Given the description of an element on the screen output the (x, y) to click on. 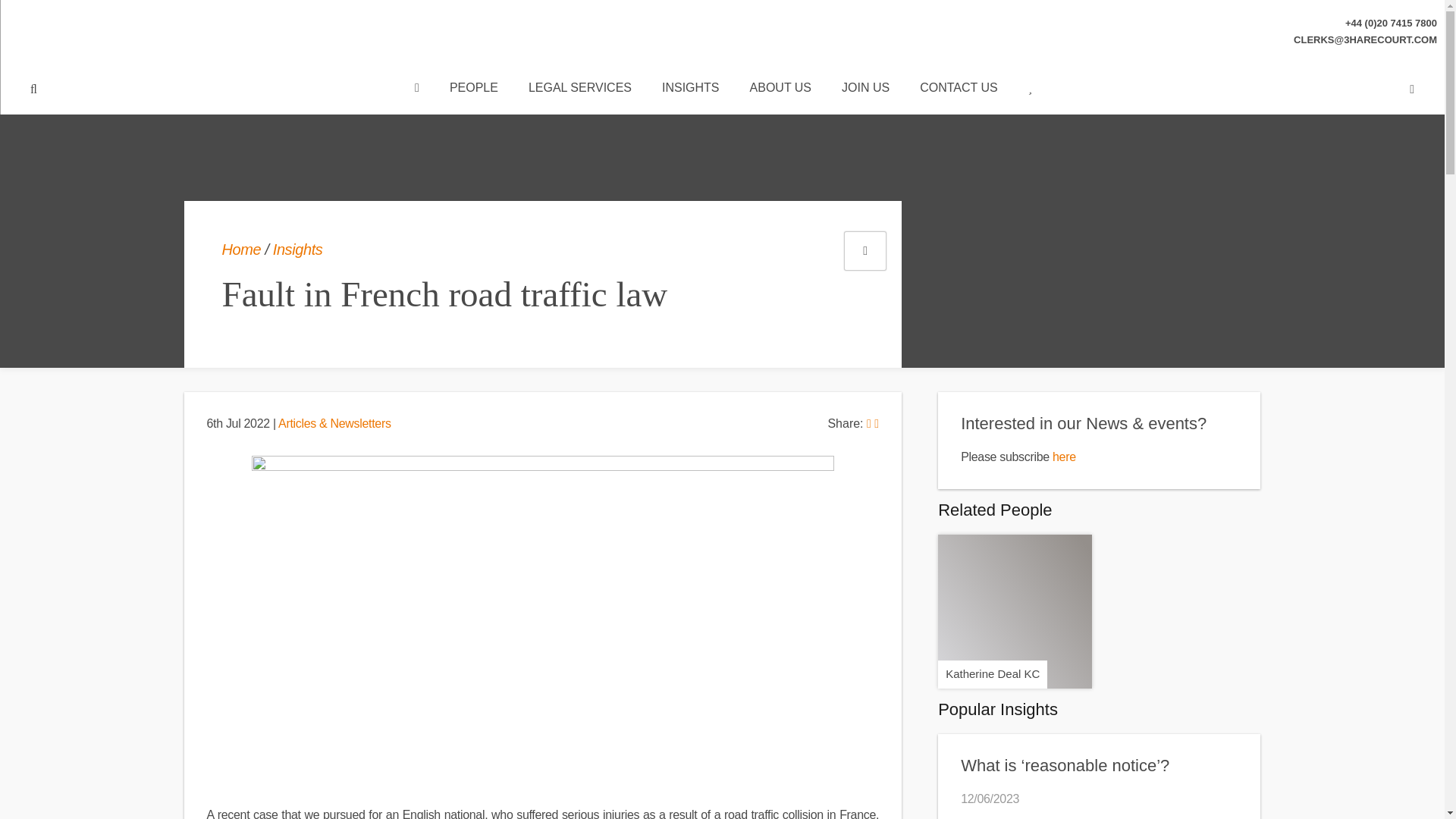
INSIGHTS (690, 88)
LEGAL SERVICES (579, 88)
ABOUT US (780, 88)
JOIN US (865, 88)
Portfolio (865, 250)
PEOPLE (473, 88)
CONTACT US (958, 88)
